Given the description of an element on the screen output the (x, y) to click on. 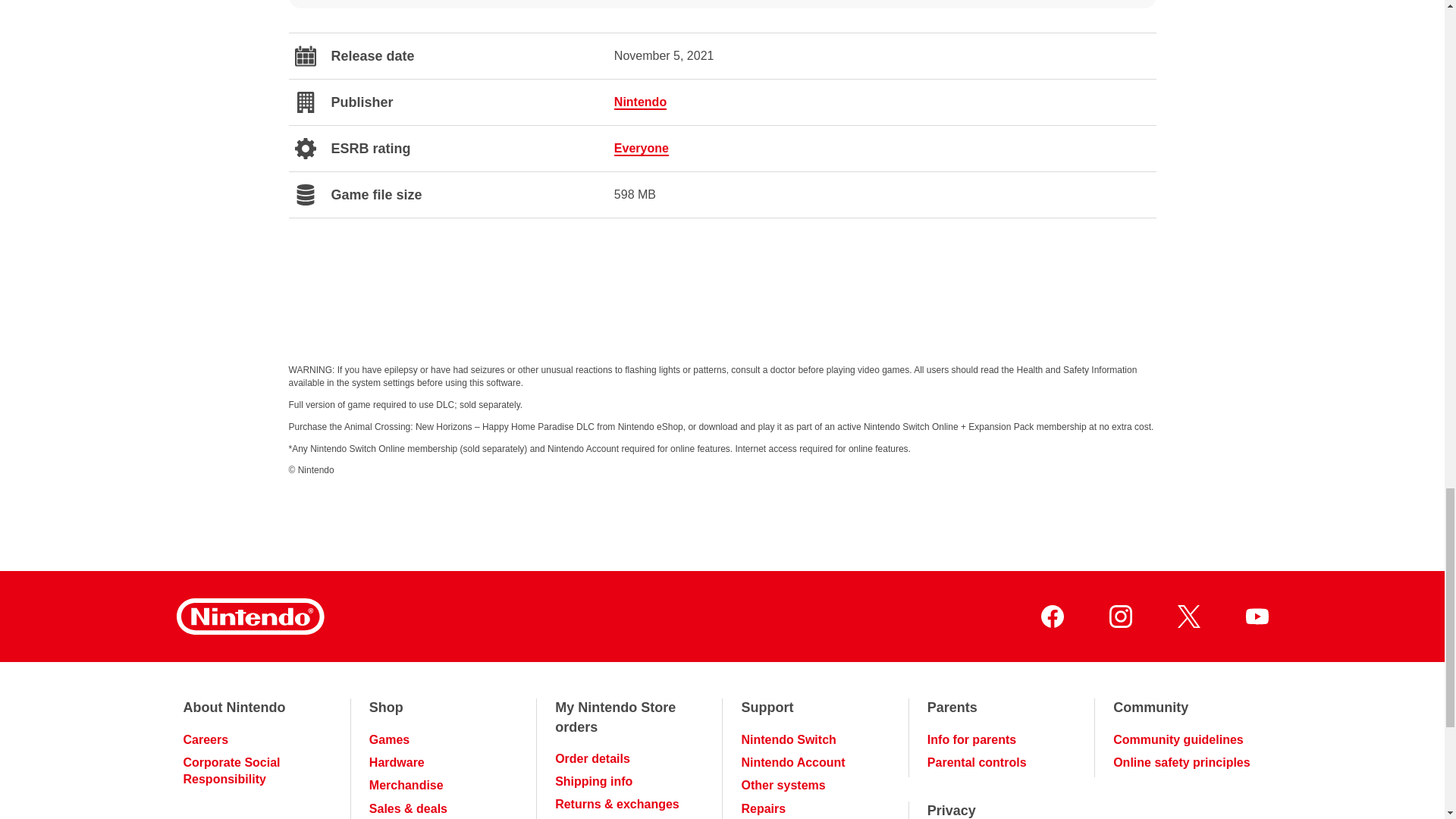
Nintendo on Facebook (1051, 616)
Nintendo on Twitter (1187, 616)
Nintendo on YouTube (1256, 616)
Nintendo on Instagram (1119, 616)
Nintendo Homepage (249, 616)
